Given the description of an element on the screen output the (x, y) to click on. 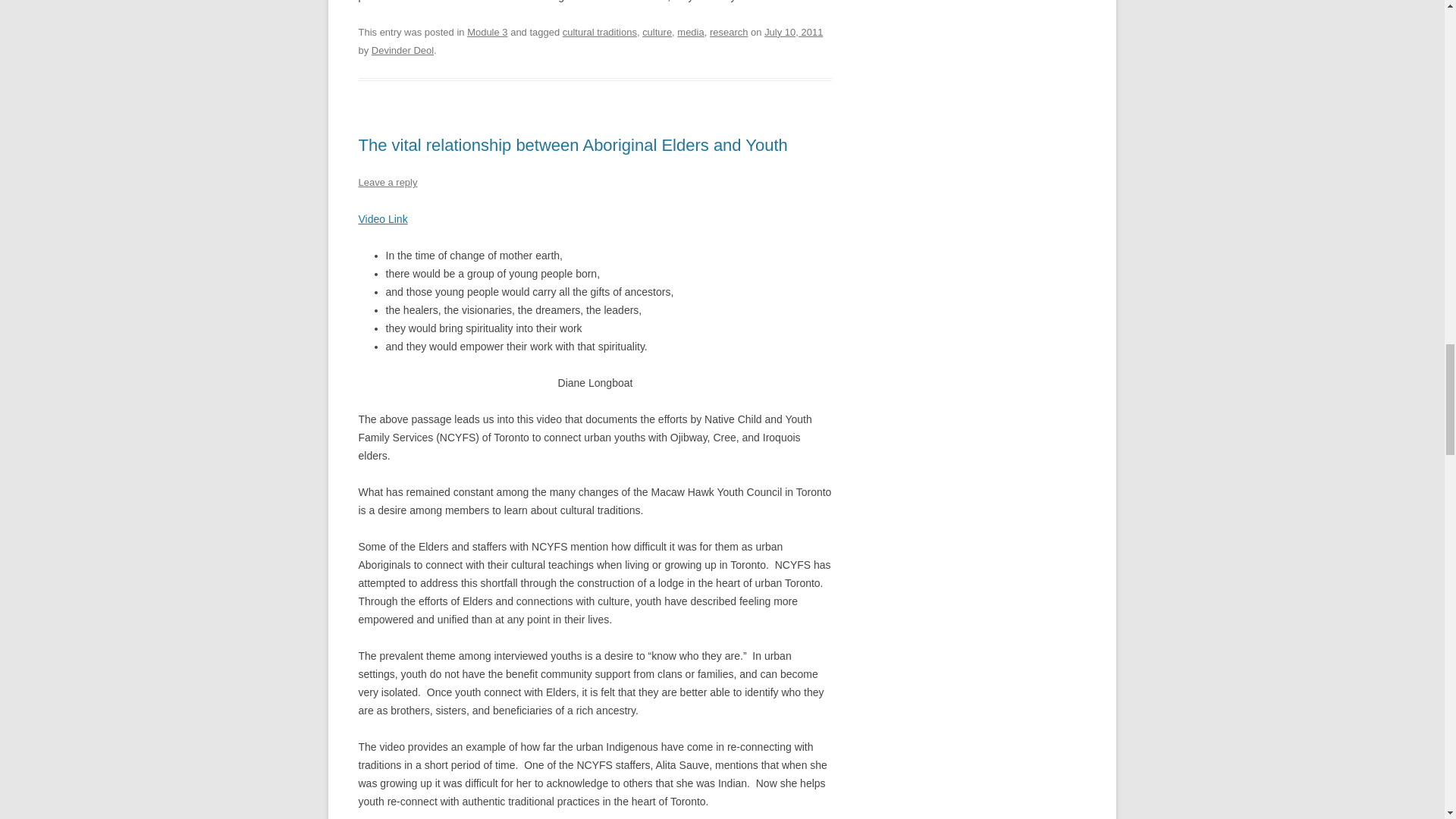
View all posts by Devinder Deol (402, 50)
11:22 pm (793, 31)
Video Link (382, 218)
